Given the description of an element on the screen output the (x, y) to click on. 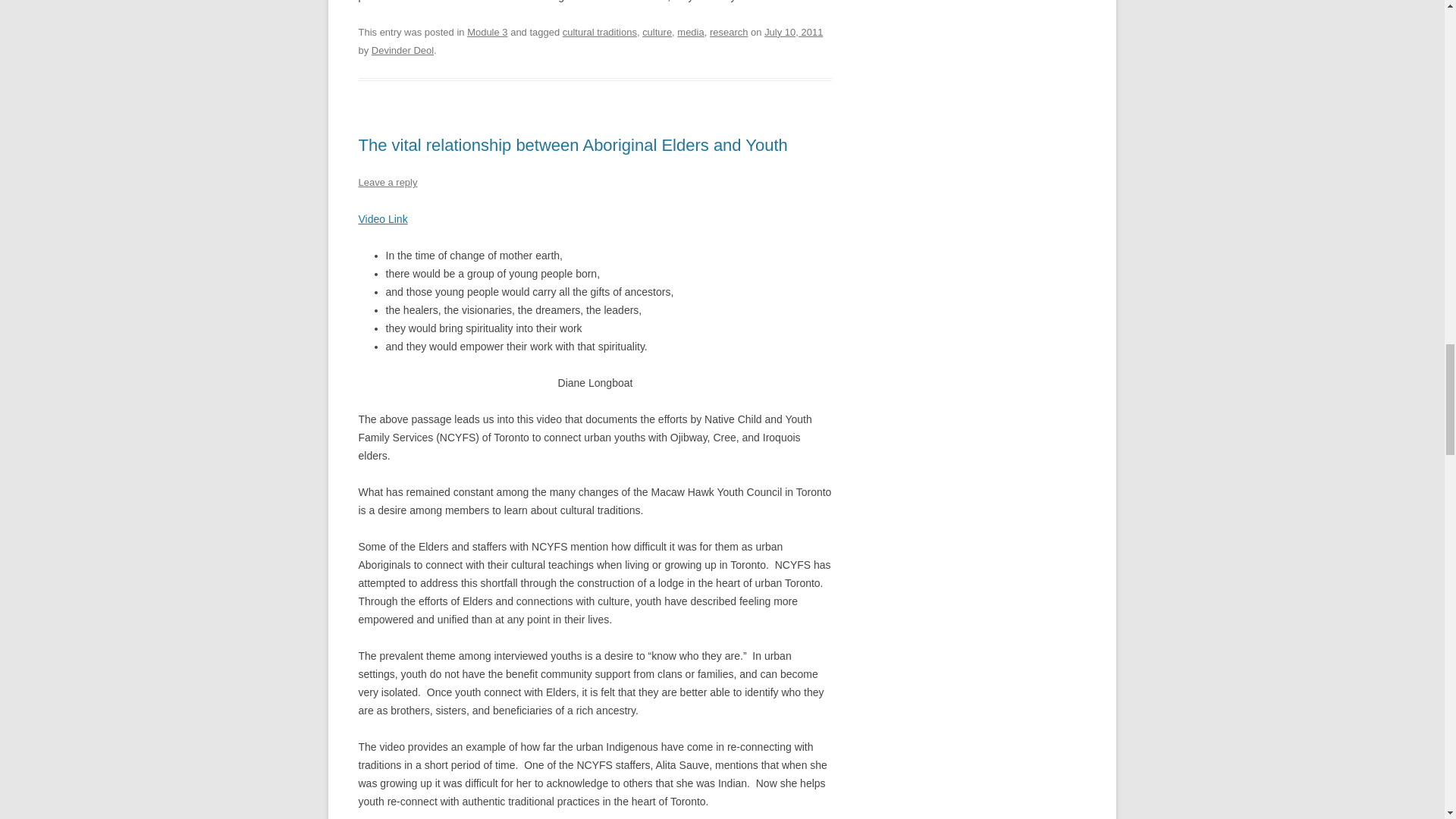
View all posts by Devinder Deol (402, 50)
11:22 pm (793, 31)
Video Link (382, 218)
